Given the description of an element on the screen output the (x, y) to click on. 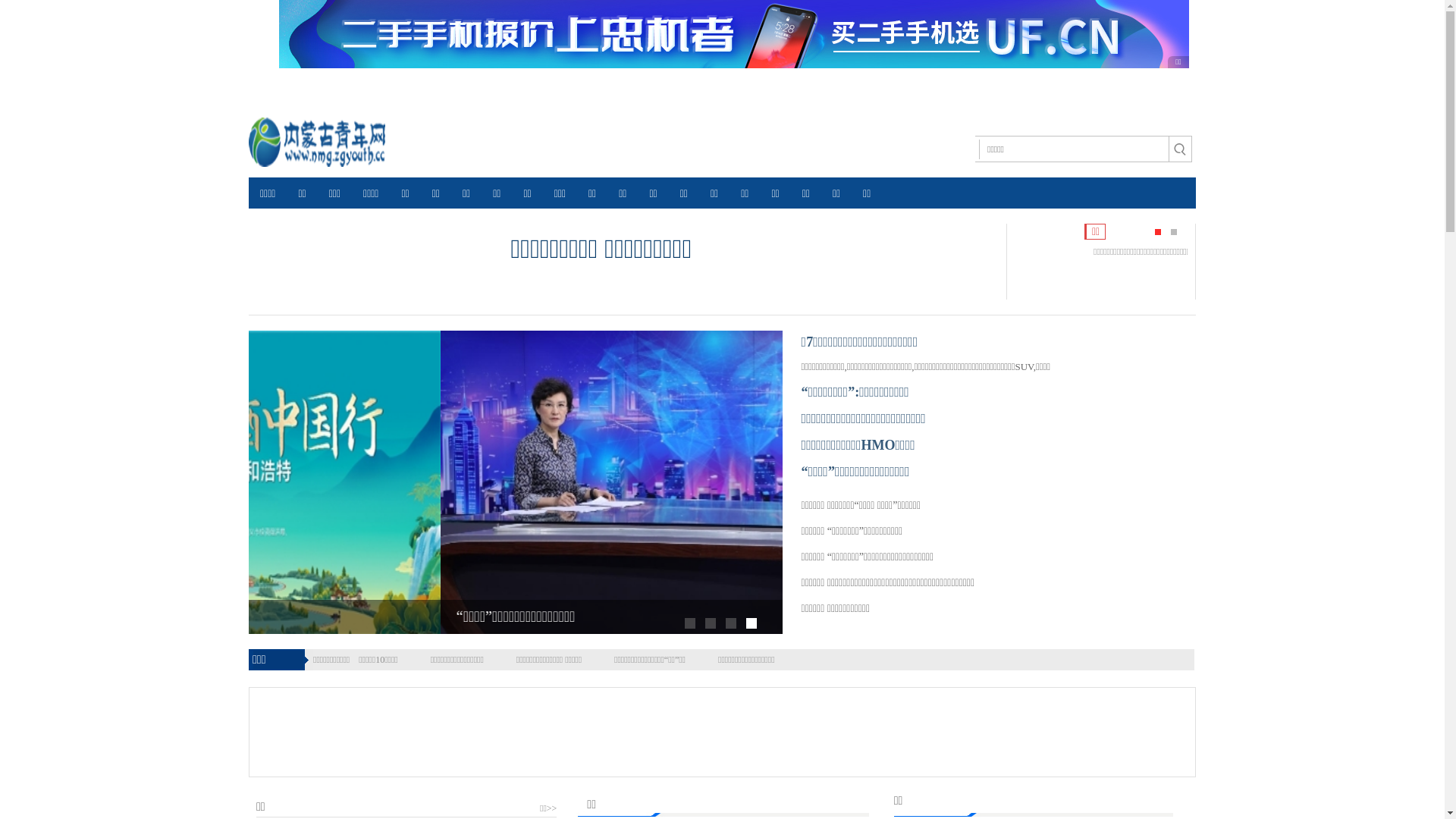
Advertisement Element type: hover (704, 729)
